Given the description of an element on the screen output the (x, y) to click on. 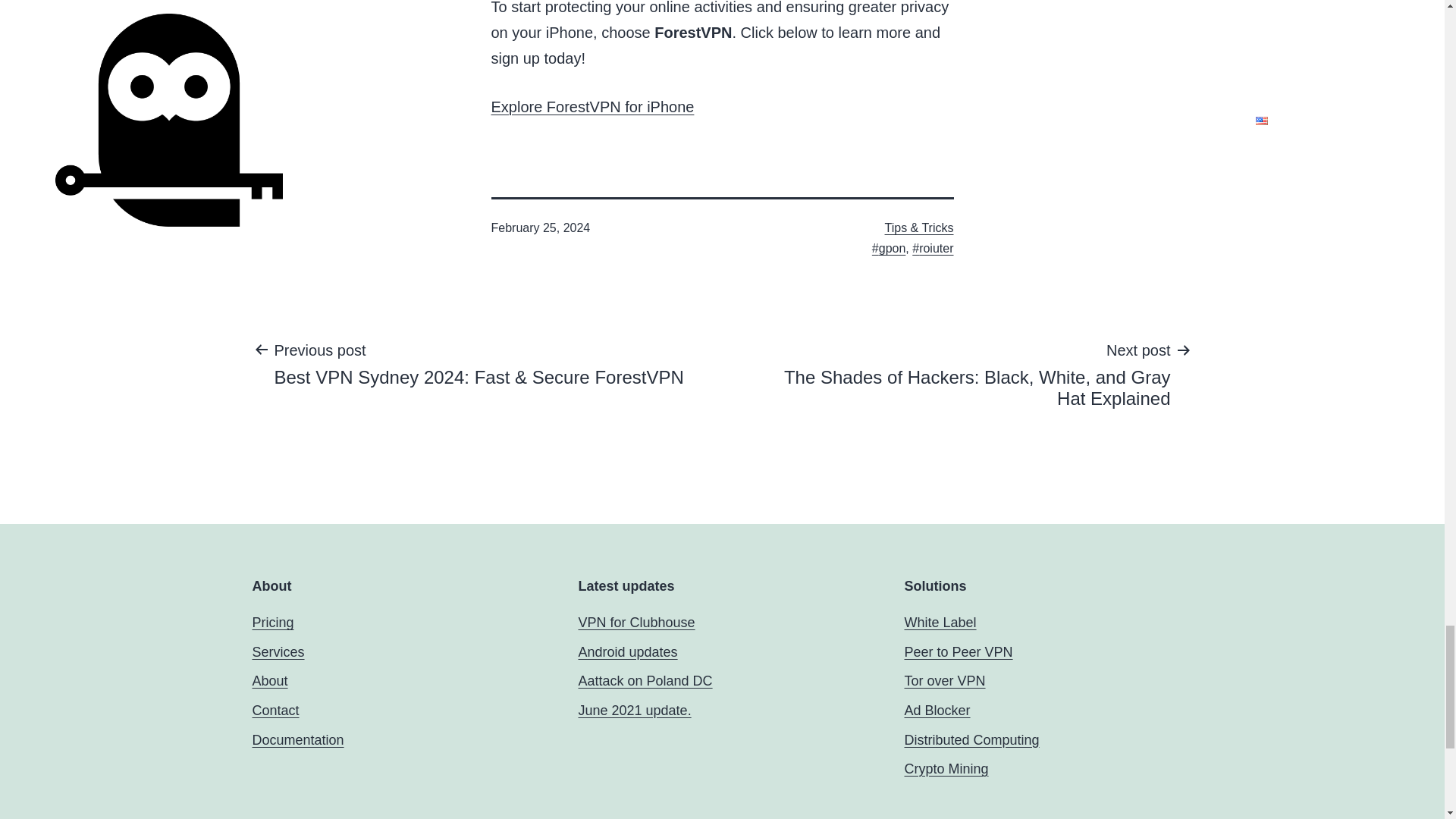
Services (277, 652)
Explore ForestVPN for iPhone (593, 106)
Android updates (627, 652)
Ad Blocker (936, 710)
Documentation (297, 739)
VPN for Clubhouse (636, 622)
Distributed Computing (971, 739)
Aattack on Poland DC (644, 680)
Contact (274, 710)
Crypto Mining (946, 768)
June 2021 update. (634, 710)
Tor over VPN (944, 680)
gpon (888, 247)
roiuter (932, 247)
